Given the description of an element on the screen output the (x, y) to click on. 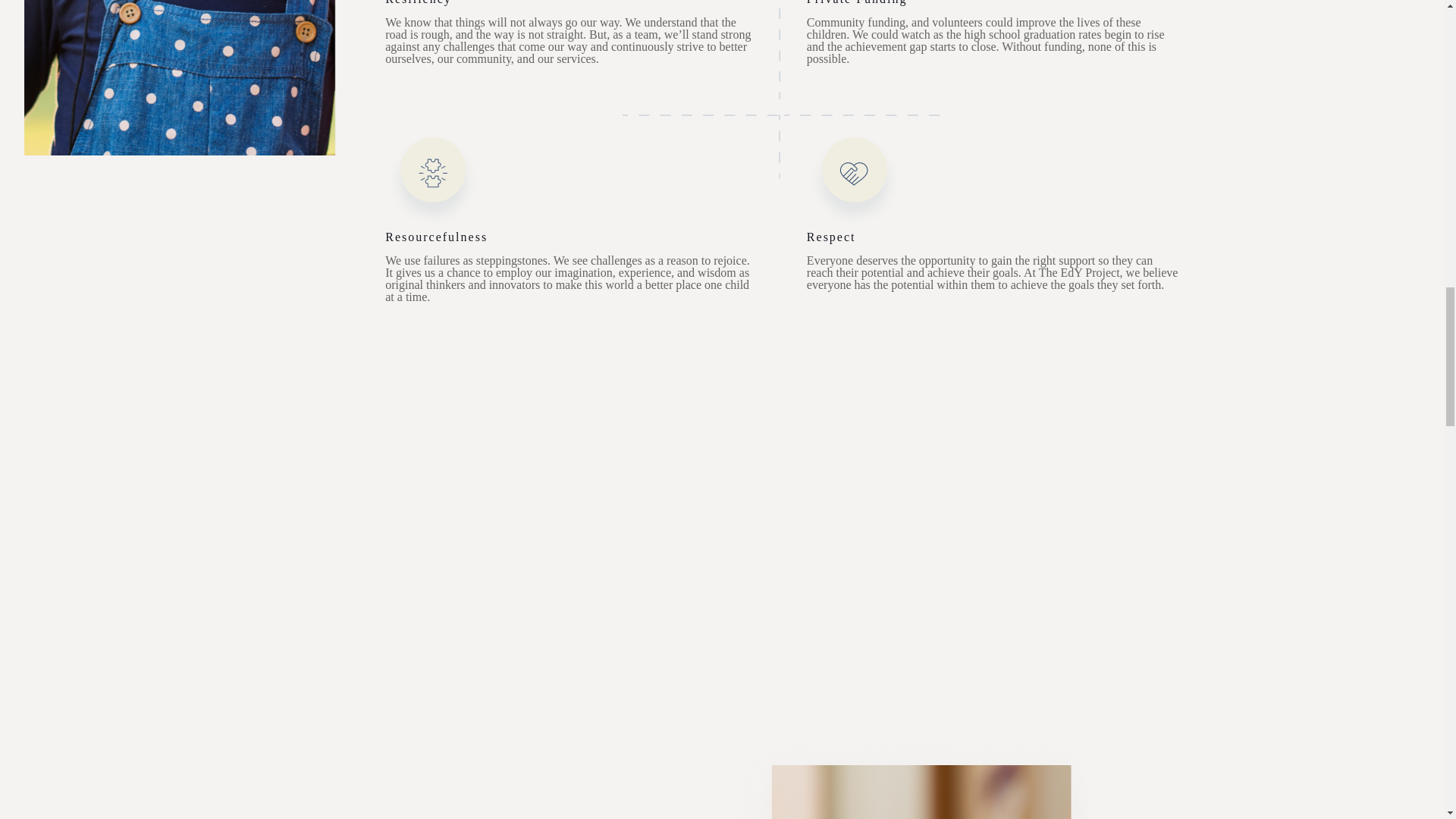
Rectangle 30 (906, 774)
Rectangle-6-1-new (180, 77)
